Given the description of an element on the screen output the (x, y) to click on. 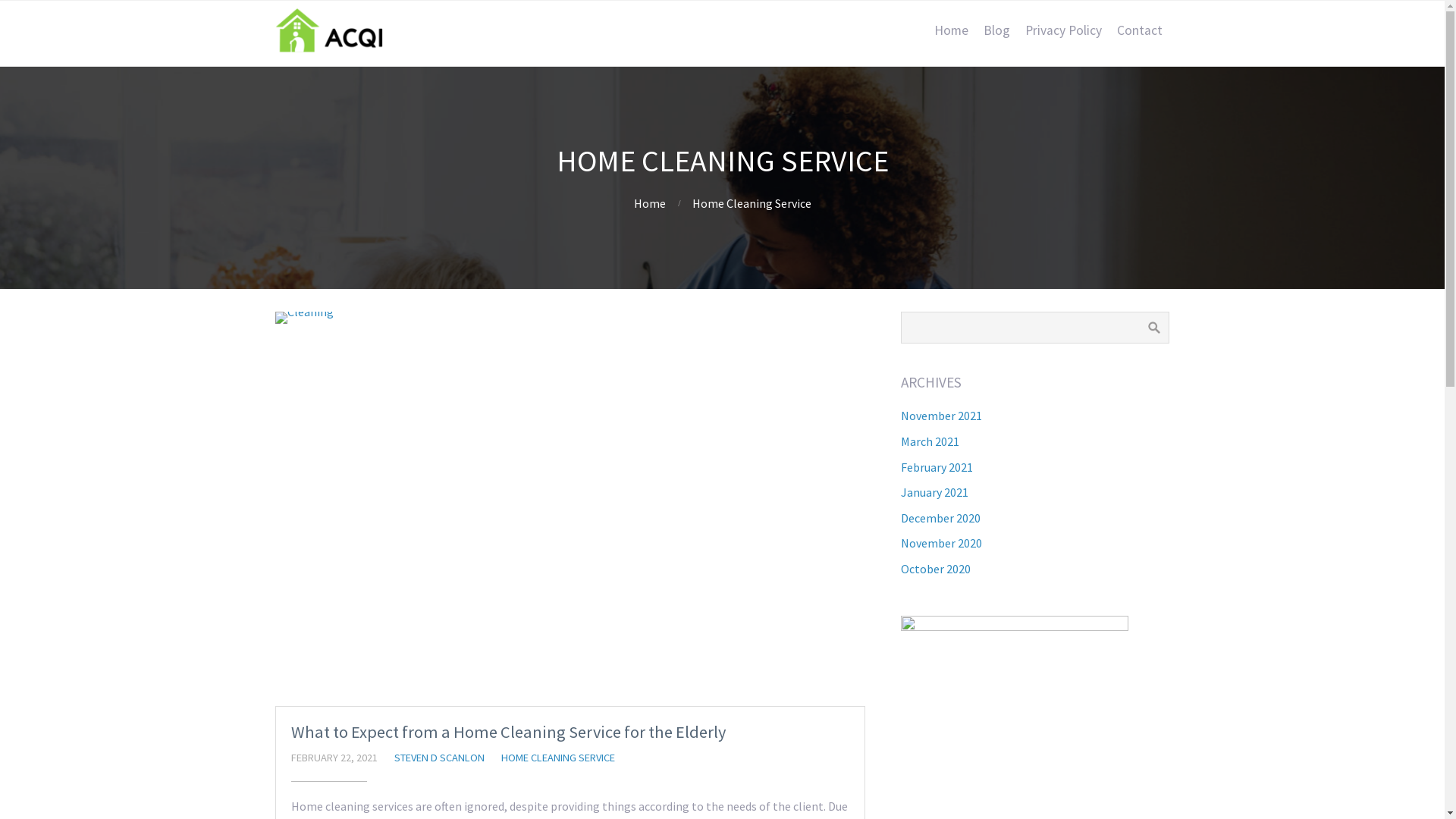
Home Element type: text (649, 202)
November 2021 Element type: text (941, 415)
January 2021 Element type: text (934, 491)
November 2020 Element type: text (941, 542)
Contact Element type: text (1138, 30)
October 2020 Element type: text (935, 568)
Privacy Policy Element type: text (1063, 30)
What to Expect from a Home Cleaning Service for the Elderly Element type: text (508, 731)
Blog Element type: text (995, 30)
December 2020 Element type: text (940, 517)
HOME CLEANING SERVICE Element type: text (557, 757)
February 2021 Element type: text (936, 466)
Search Element type: text (1154, 327)
Home Element type: text (950, 30)
March 2021 Element type: text (929, 440)
Home Cleaning Service Element type: text (750, 202)
STEVEN D SCANLON Element type: text (439, 757)
